Given the description of an element on the screen output the (x, y) to click on. 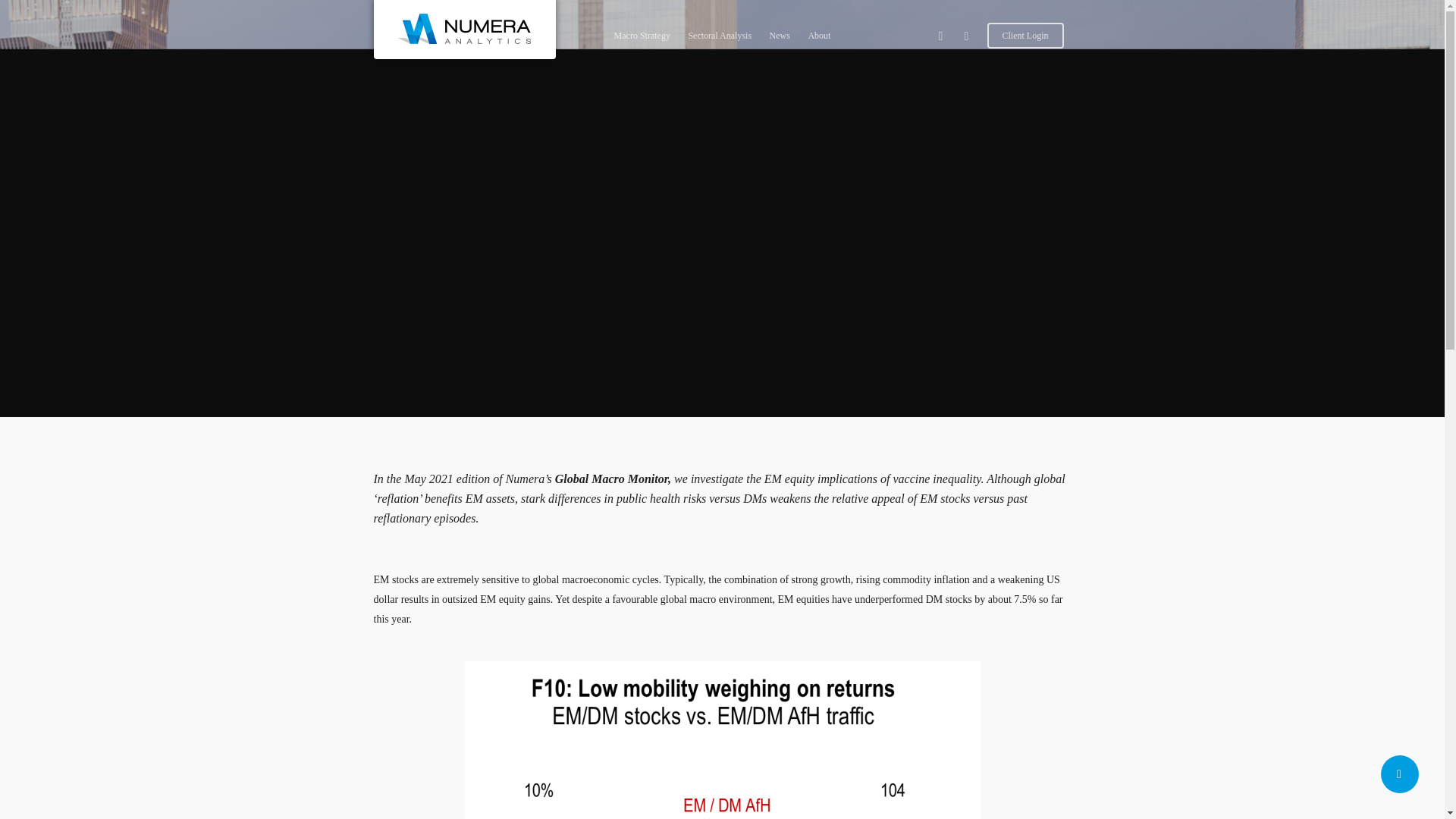
Client Login (1025, 46)
Macro Strategy (641, 46)
Sectoral Analysis (719, 46)
